Given the description of an element on the screen output the (x, y) to click on. 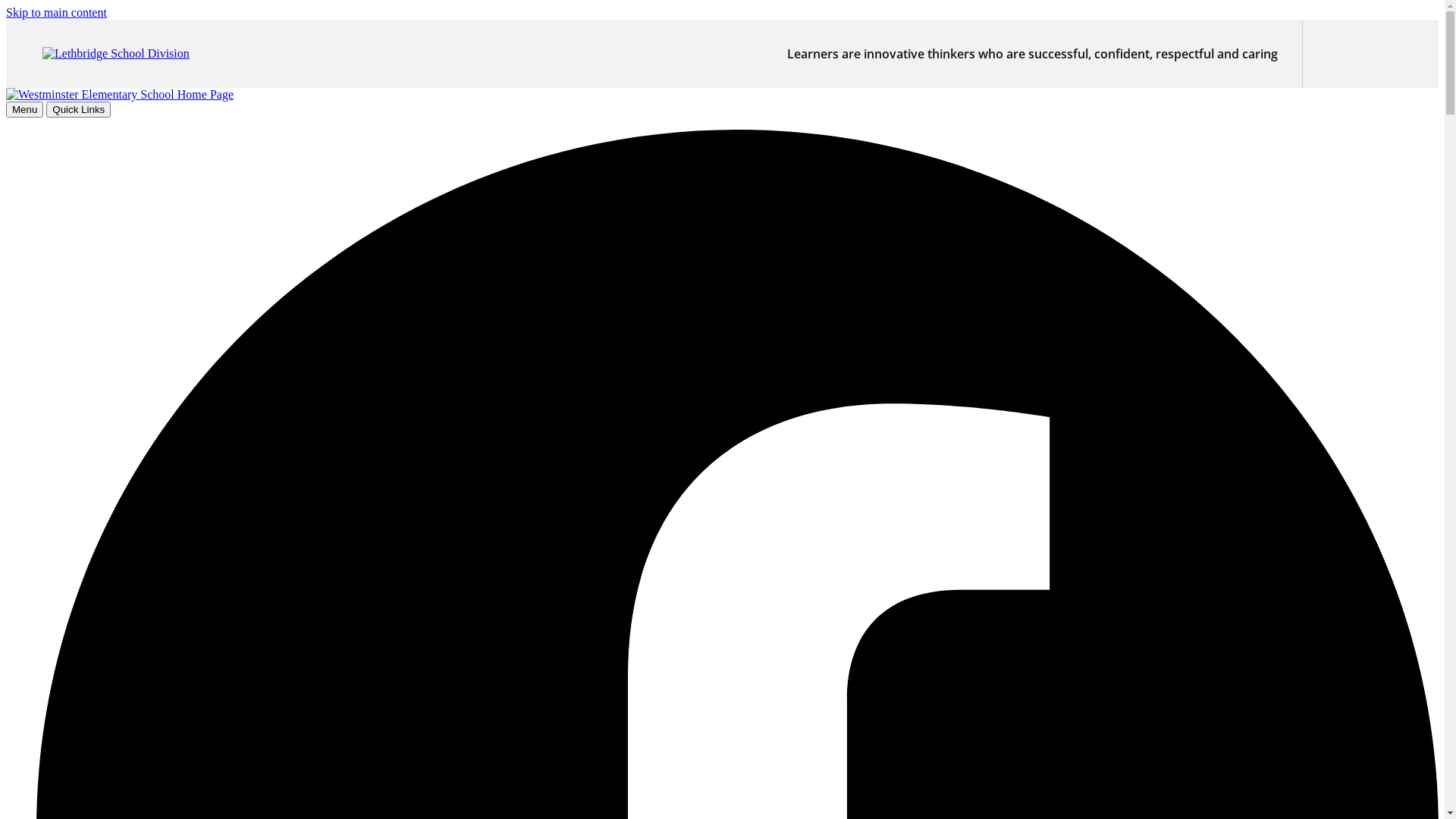
Skip to main content Element type: text (56, 12)
Menu Element type: text (24, 109)
Quick Links Element type: text (78, 109)
home Element type: hover (119, 93)
